Given the description of an element on the screen output the (x, y) to click on. 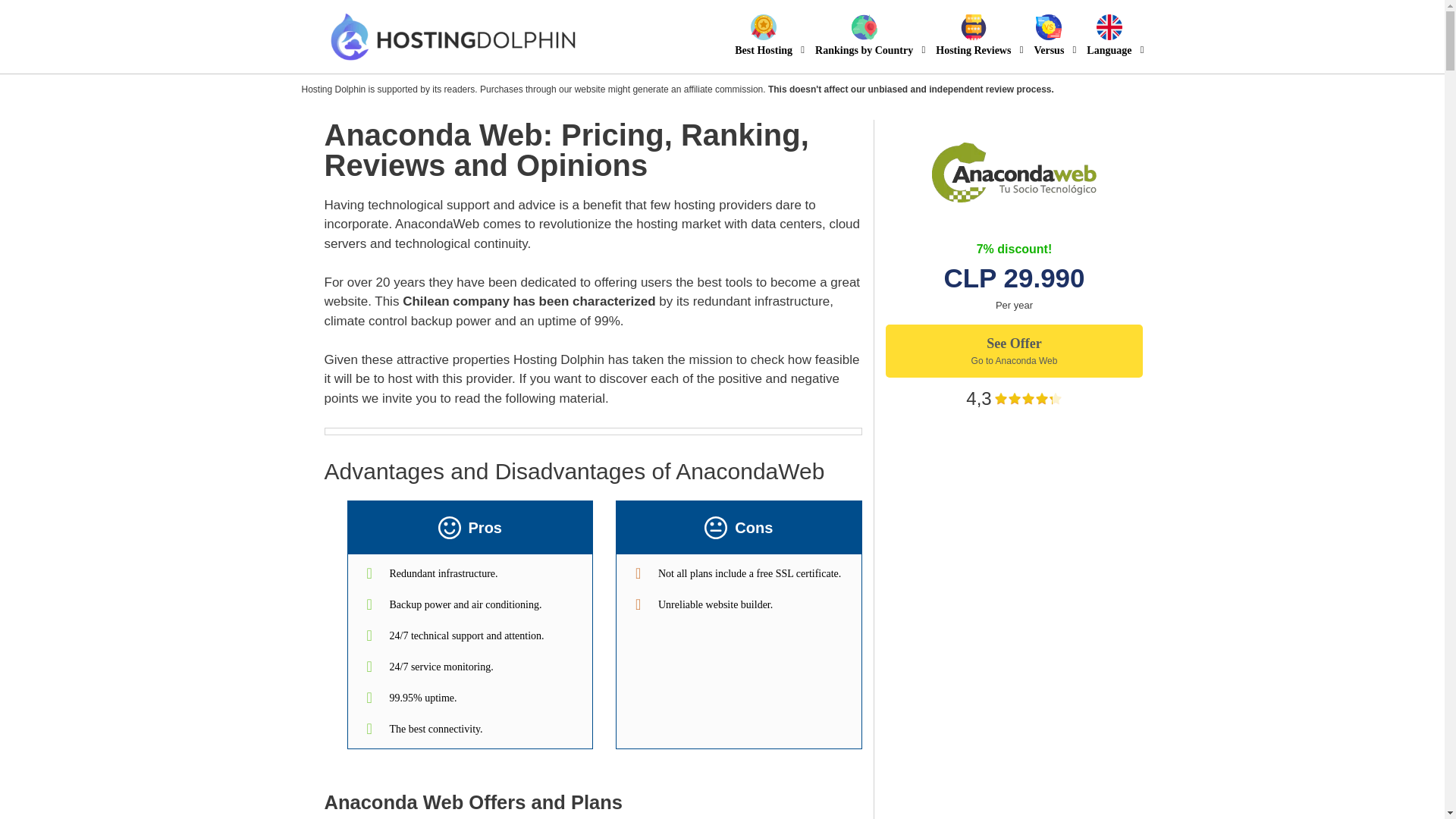
Rankings by Country (863, 36)
Best Hosting (763, 36)
Hosting Reviews (973, 36)
